Given the description of an element on the screen output the (x, y) to click on. 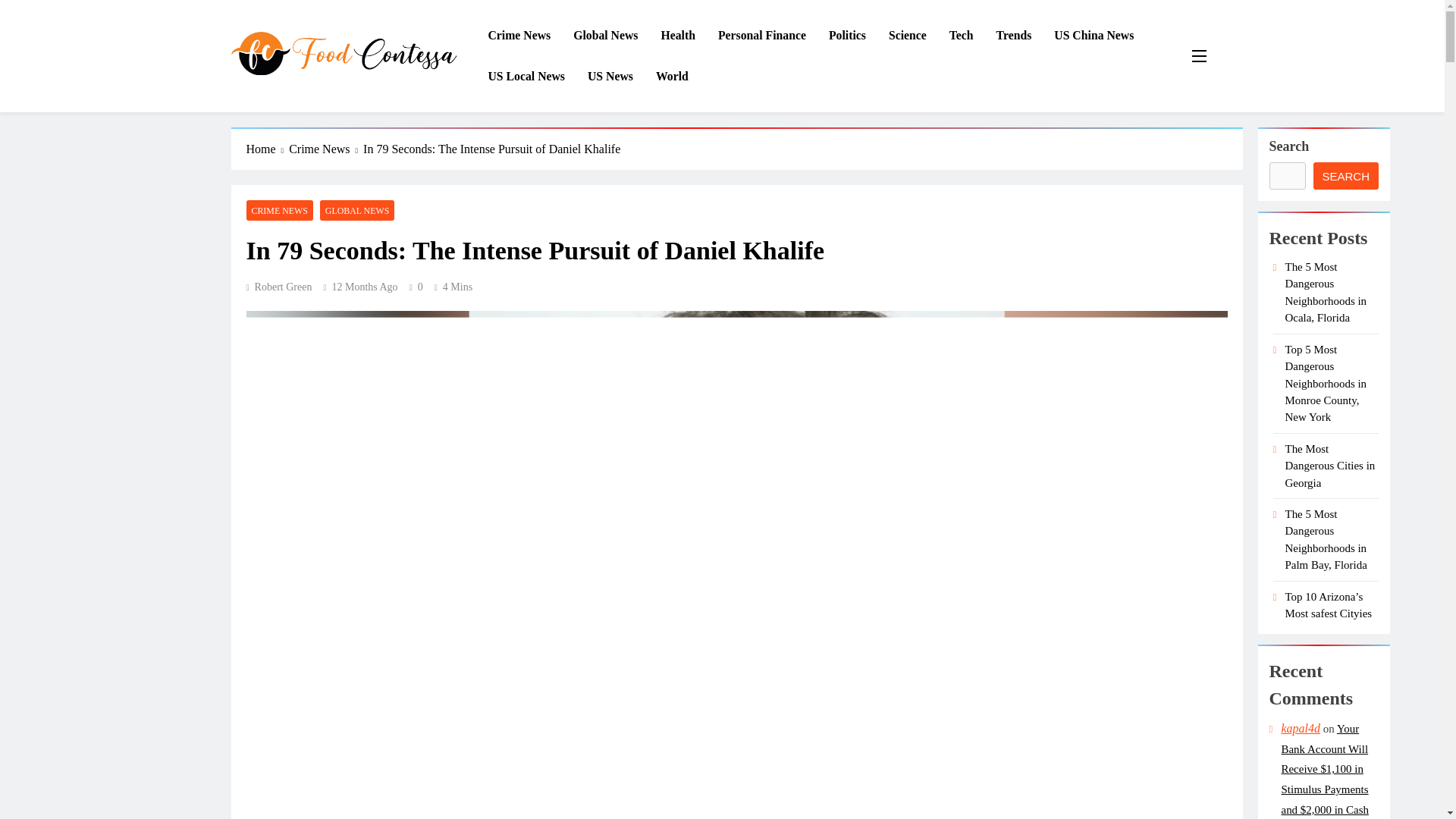
World (672, 76)
Global News (605, 35)
US Local News (526, 76)
Tech (961, 35)
Health (677, 35)
Personal Finance (761, 35)
Politics (846, 35)
US News (610, 76)
Trends (1014, 35)
US China News (1093, 35)
